Given the description of an element on the screen output the (x, y) to click on. 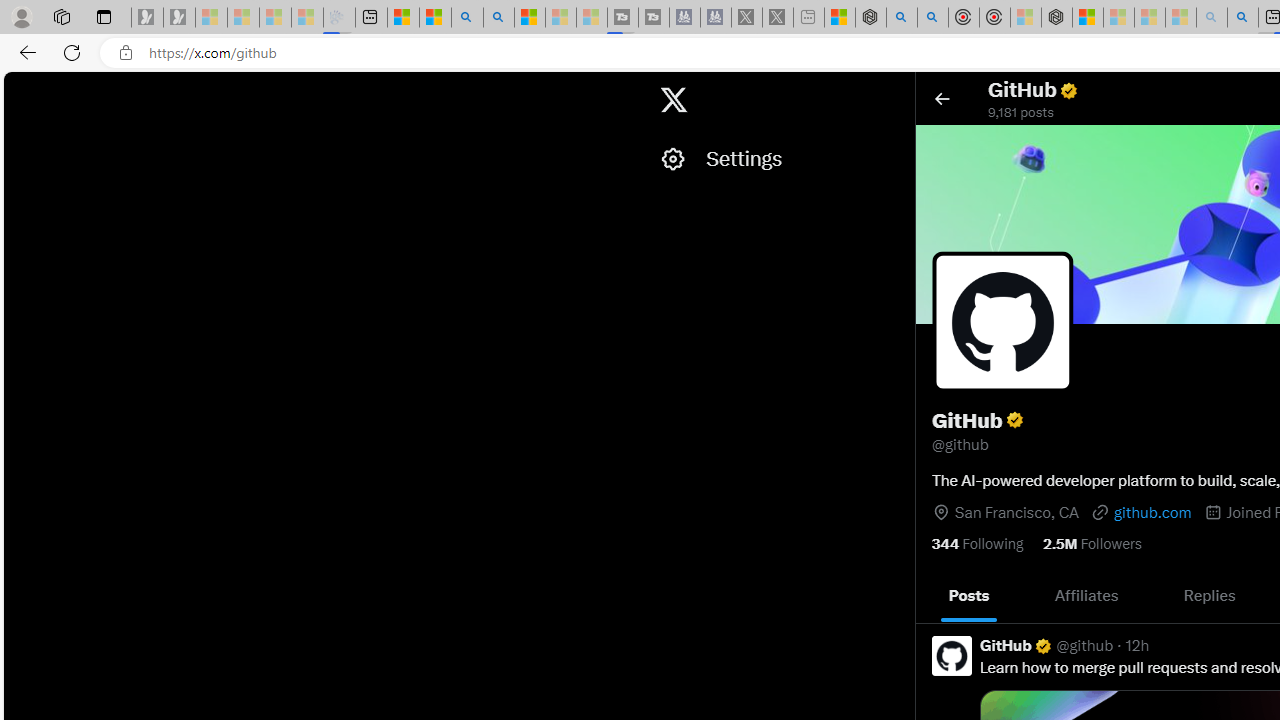
2.5M Followers (1093, 542)
Square profile picture (952, 655)
Square profile picture (951, 655)
Square profile picture and Opens profile photo (1002, 321)
Square profile picture and Opens profile photo (1003, 322)
GitHub Verified account (1016, 645)
Skip to home timeline (21, 90)
Amazon Echo Dot PNG - Search Images (1242, 17)
@github (1084, 645)
